Given the description of an element on the screen output the (x, y) to click on. 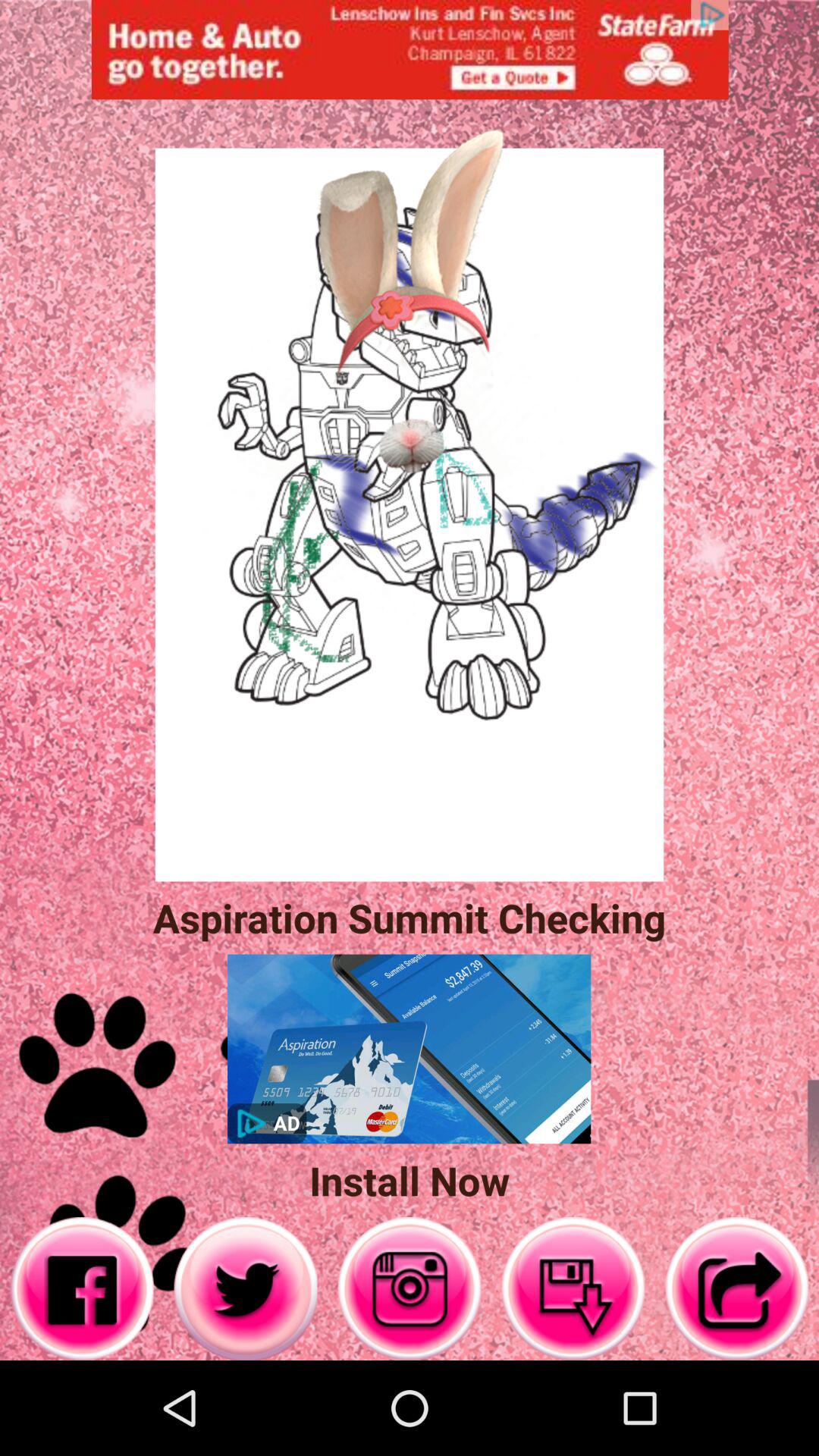
received button (573, 1288)
